Given the description of an element on the screen output the (x, y) to click on. 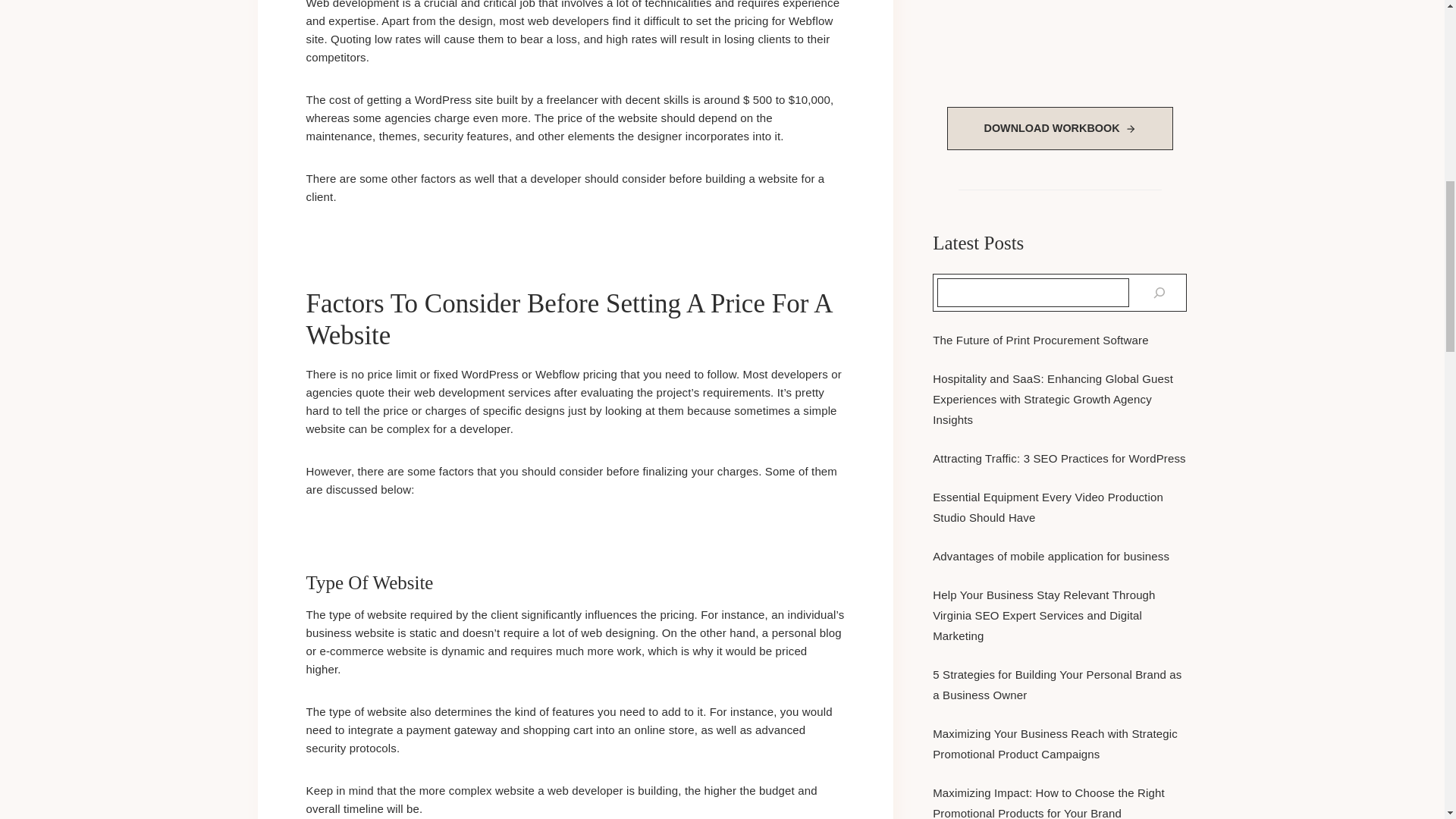
web designing (616, 632)
web development services (480, 391)
pricing for Webflow (781, 20)
